Given the description of an element on the screen output the (x, y) to click on. 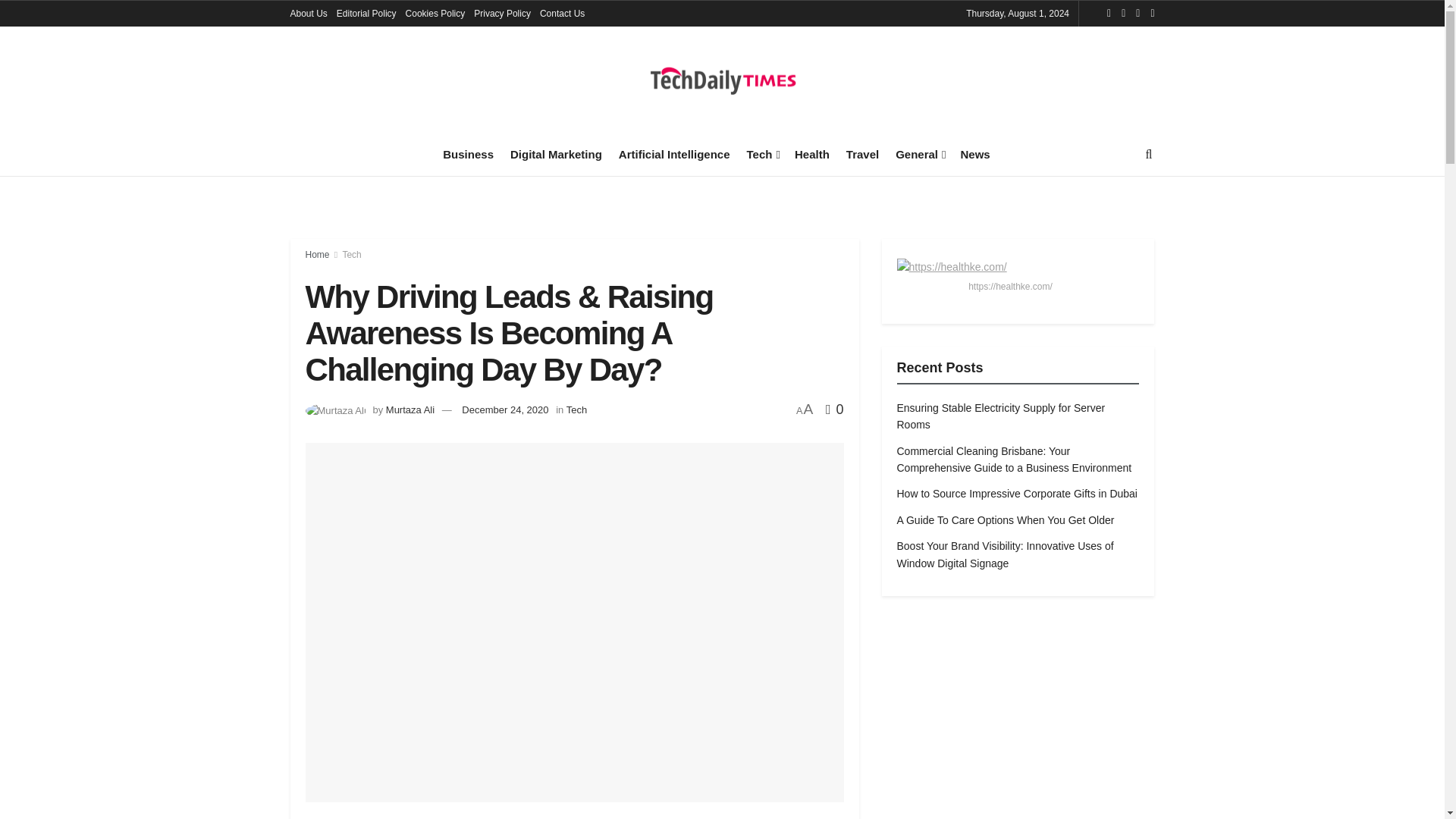
Artificial Intelligence (674, 154)
Contact Us (562, 13)
Privacy Policy (502, 13)
Digital Marketing (556, 154)
Cookies Policy (435, 13)
General (919, 154)
Editorial Policy (366, 13)
About Us (307, 13)
Business (467, 154)
